Given the description of an element on the screen output the (x, y) to click on. 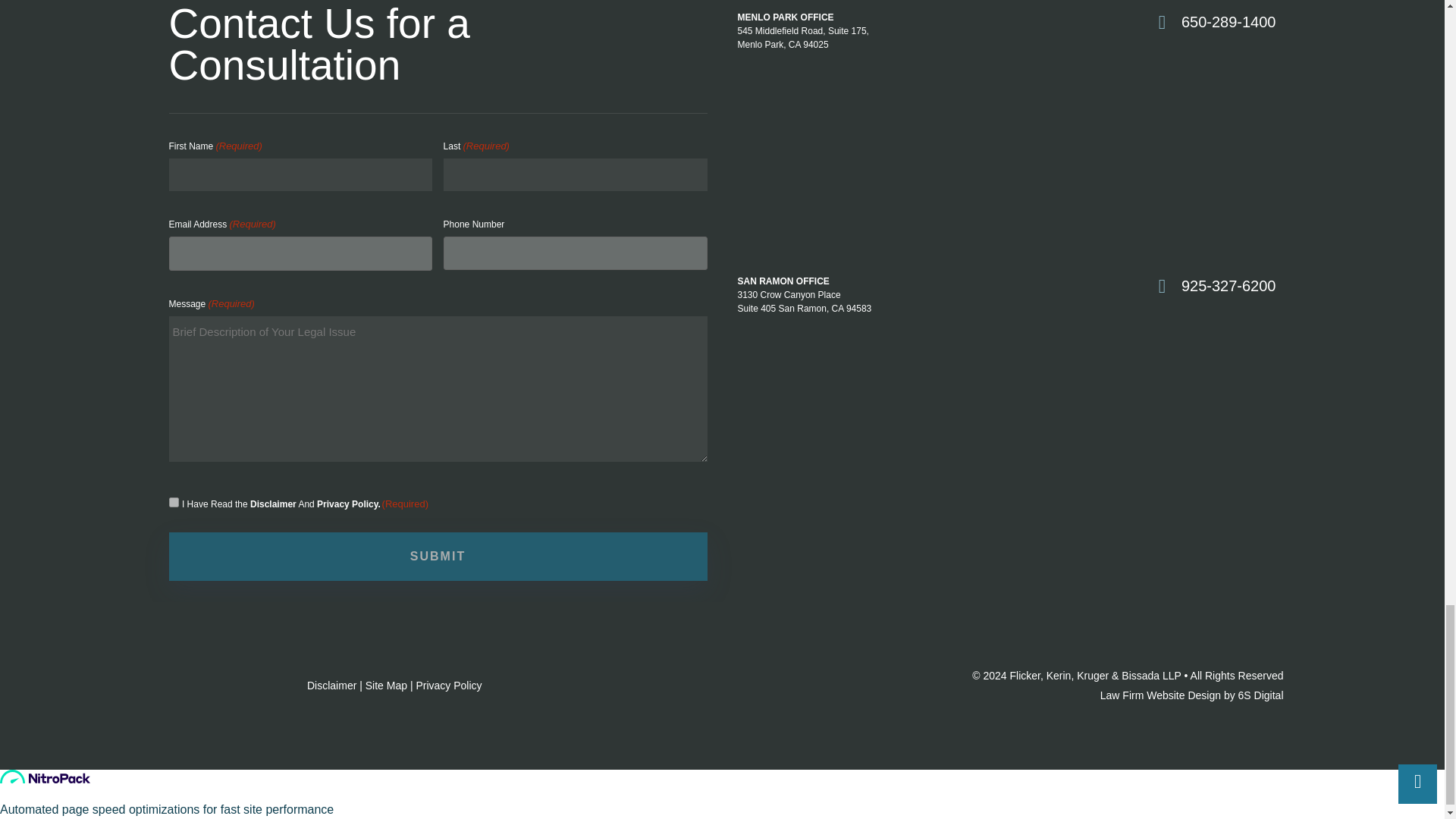
1 (172, 501)
Submit (437, 556)
